Given the description of an element on the screen output the (x, y) to click on. 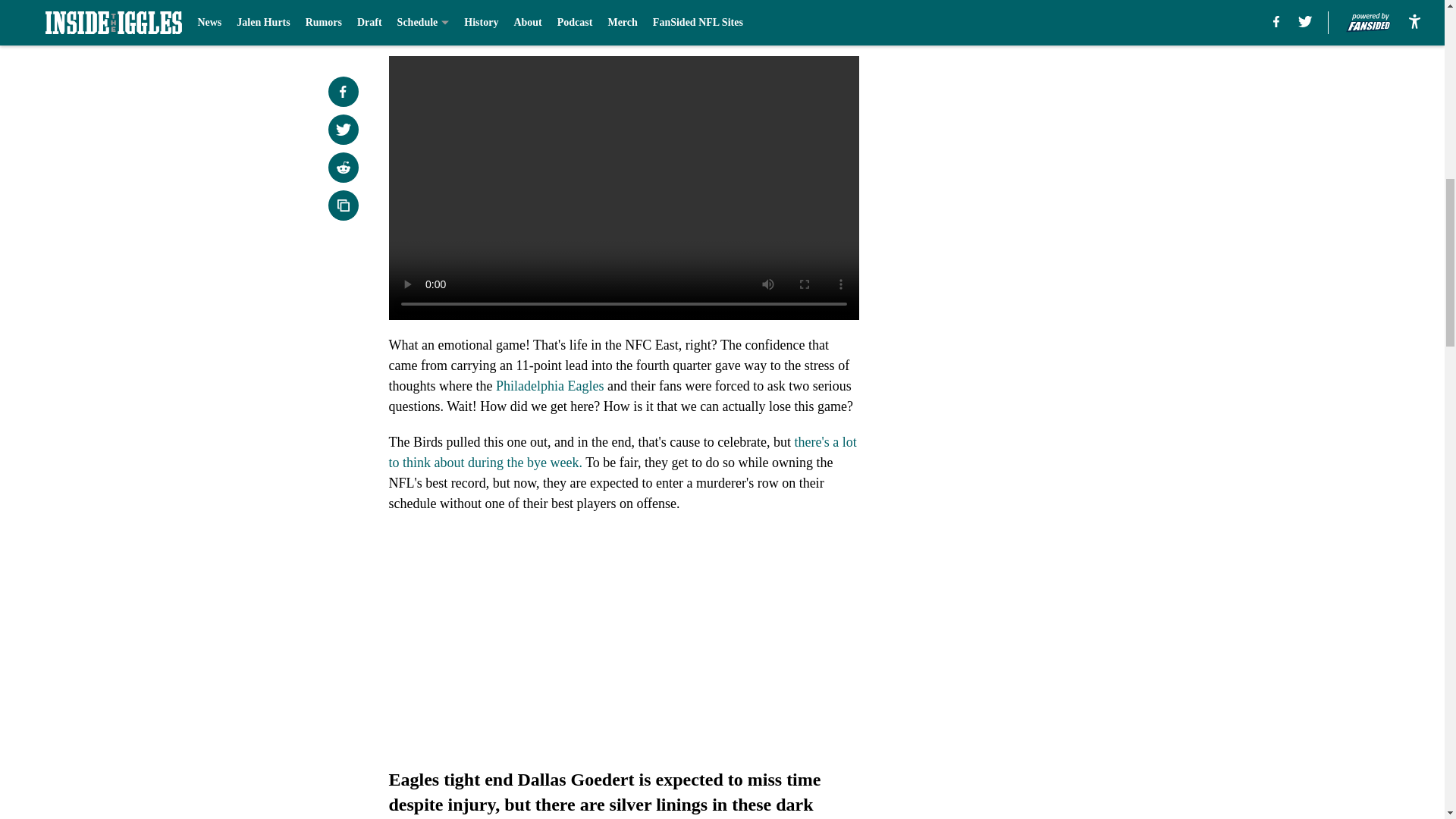
Philadelphia Eagles (550, 385)
3rd party ad content (1047, 371)
there's a lot to think about during the bye week. (622, 452)
3rd party ad content (1047, 150)
